Given the description of an element on the screen output the (x, y) to click on. 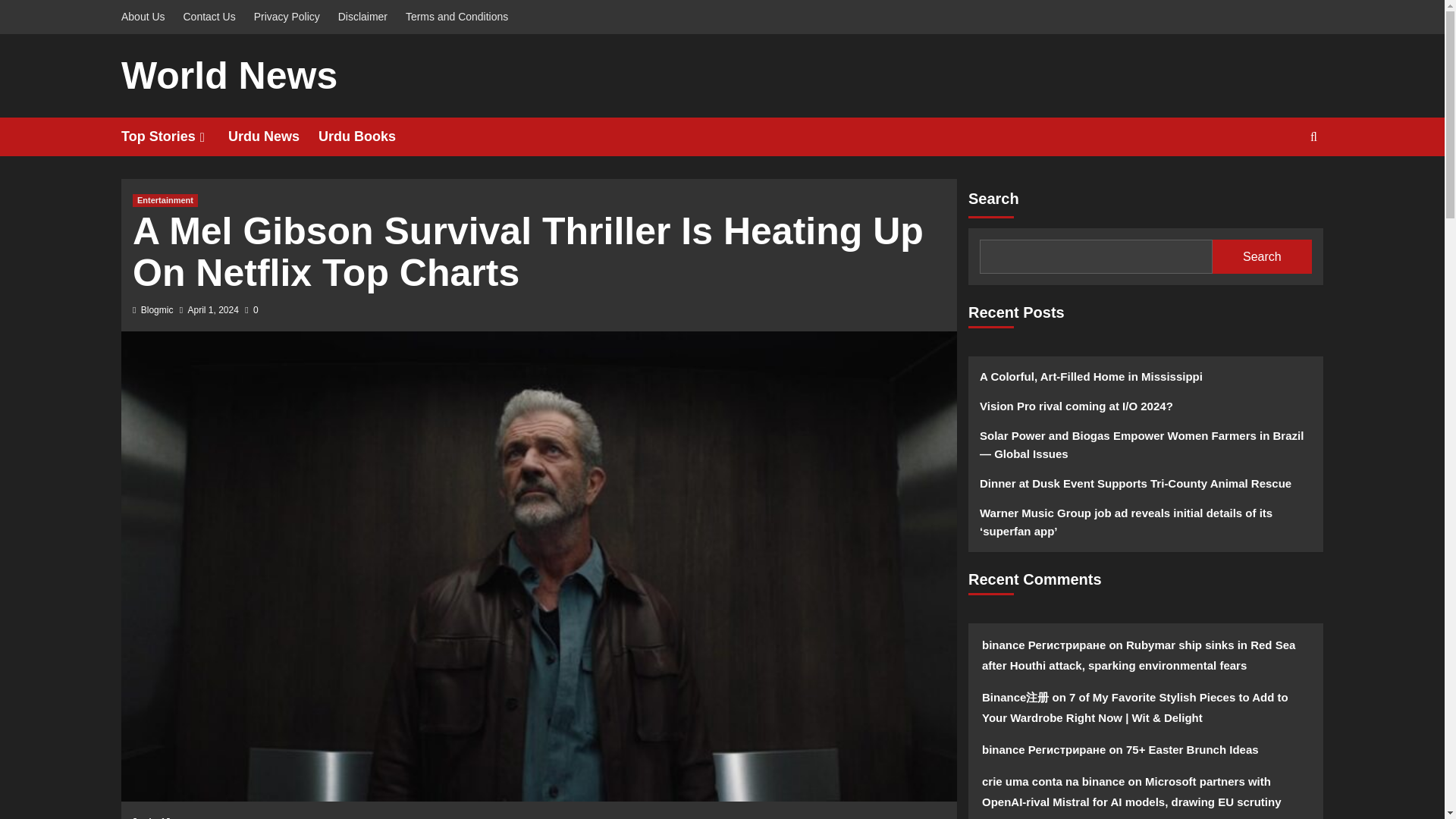
Terms and Conditions (456, 17)
Urdu Books (366, 136)
About Us (146, 17)
Entertainment (165, 200)
Privacy Policy (286, 17)
April 1, 2024 (212, 309)
World News (228, 75)
0 (250, 309)
Search (1278, 183)
Top Stories (174, 136)
Contact Us (208, 17)
Search (1313, 135)
Blogmic (157, 309)
Urdu News (273, 136)
Disclaimer (362, 17)
